Given the description of an element on the screen output the (x, y) to click on. 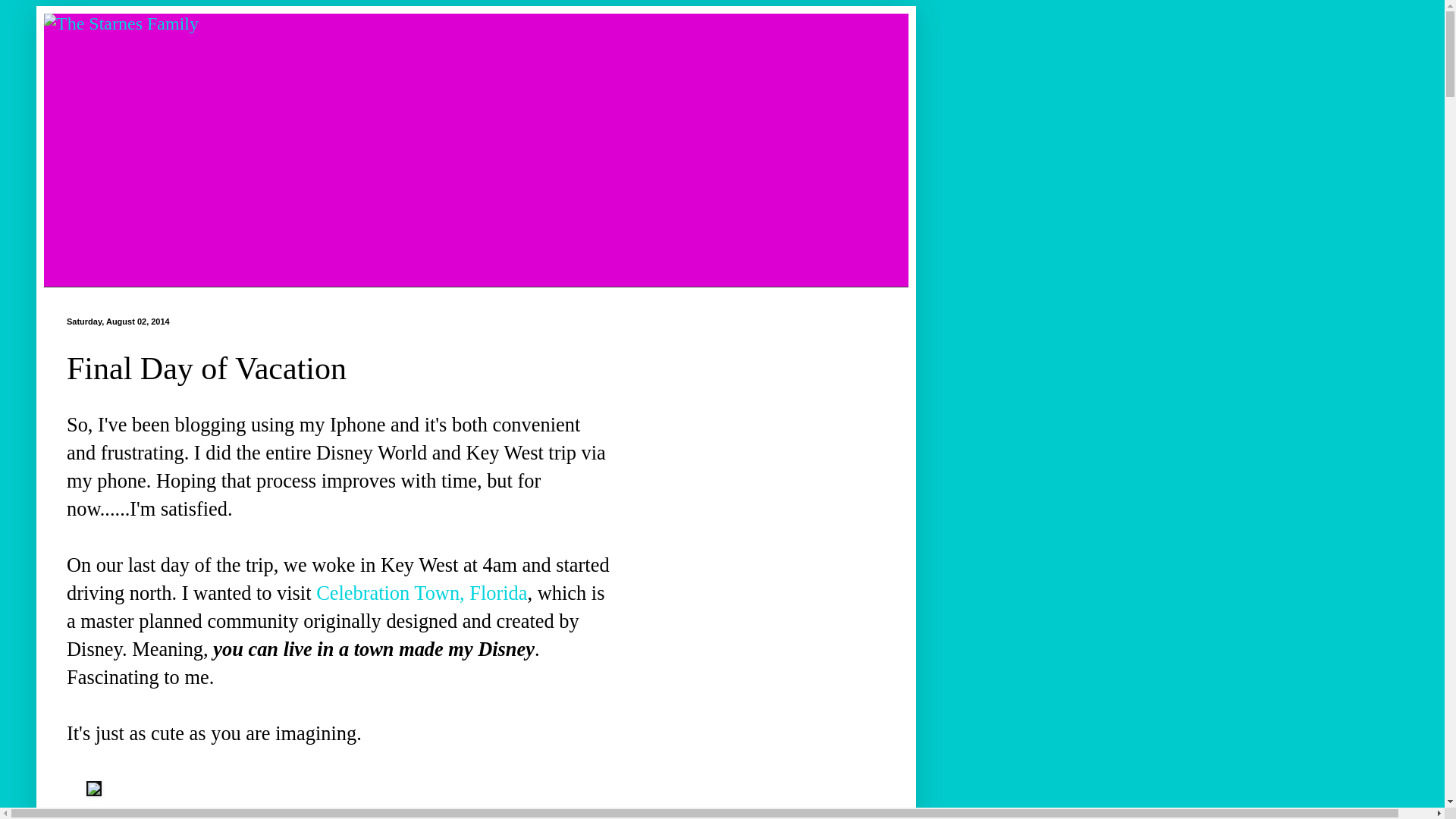
Celebration Town, Florida (421, 592)
